Given the description of an element on the screen output the (x, y) to click on. 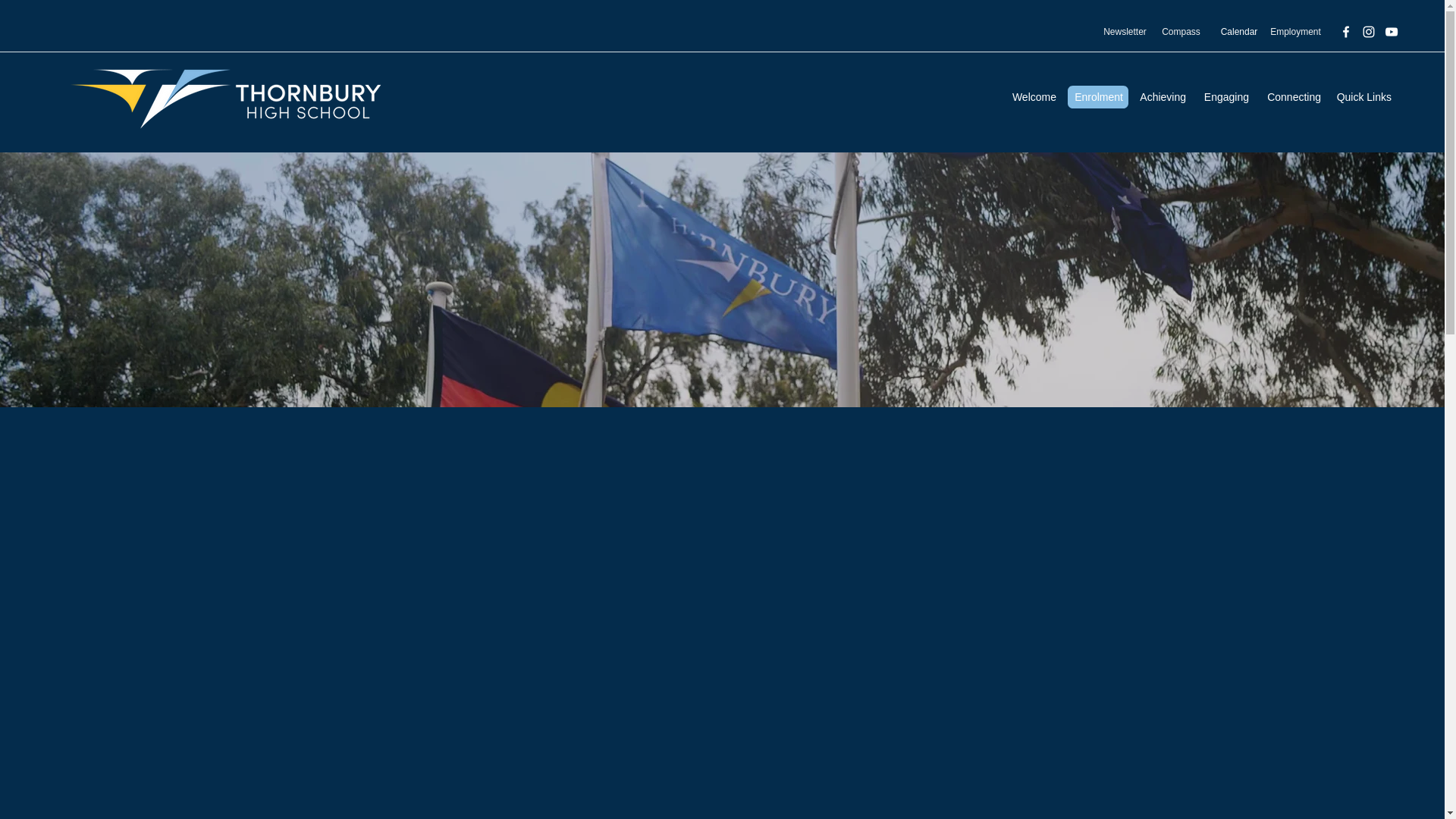
Engaging (1224, 96)
Achieving (1162, 96)
Connecting (1291, 96)
Quick Links (1363, 96)
Employment (1295, 31)
Newsletter (1125, 31)
Welcome (1032, 96)
Enrolment (1097, 96)
Compass (1180, 31)
Calendar (1238, 31)
